Given the description of an element on the screen output the (x, y) to click on. 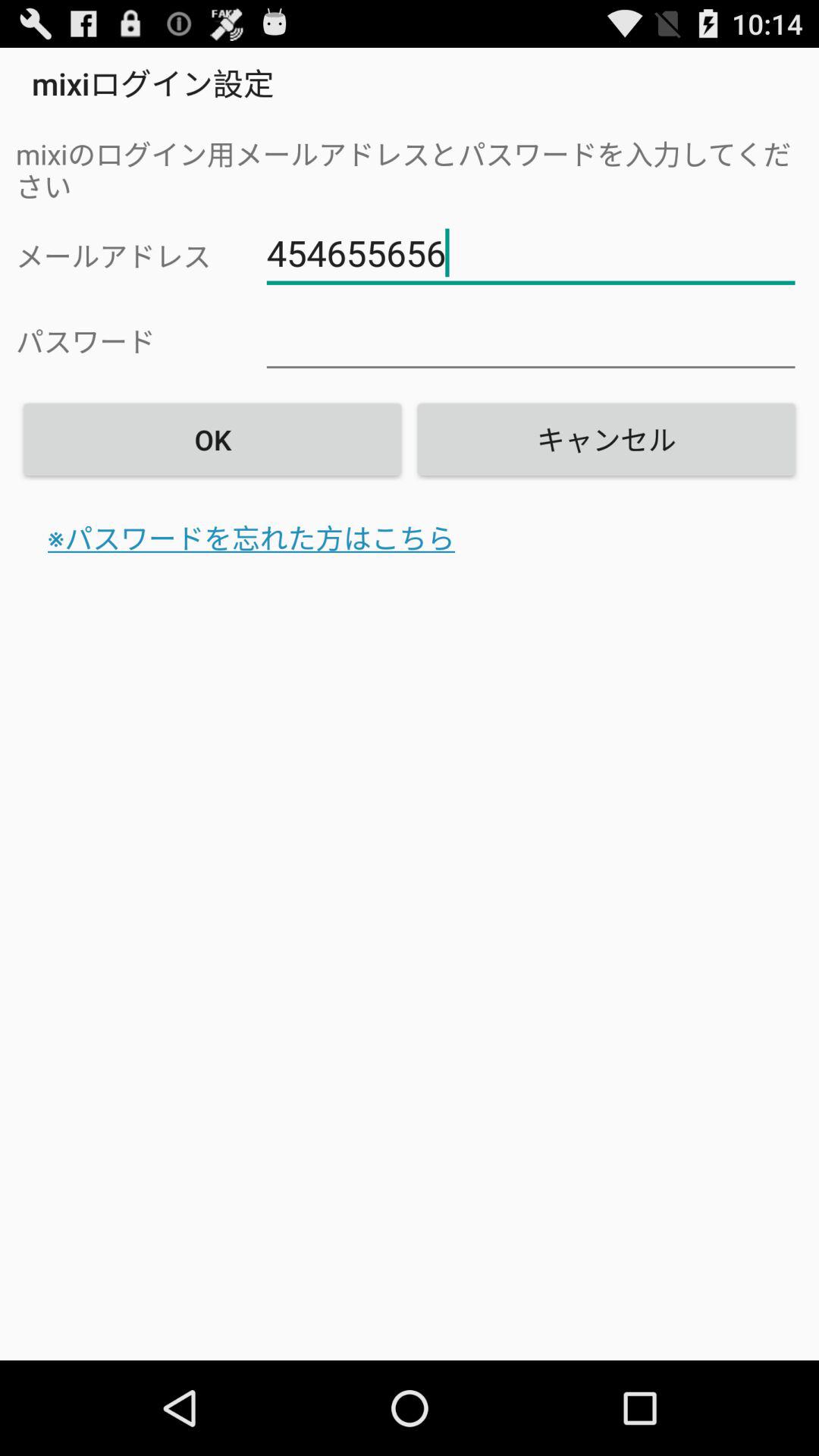
turn off the 454655656 (530, 253)
